Given the description of an element on the screen output the (x, y) to click on. 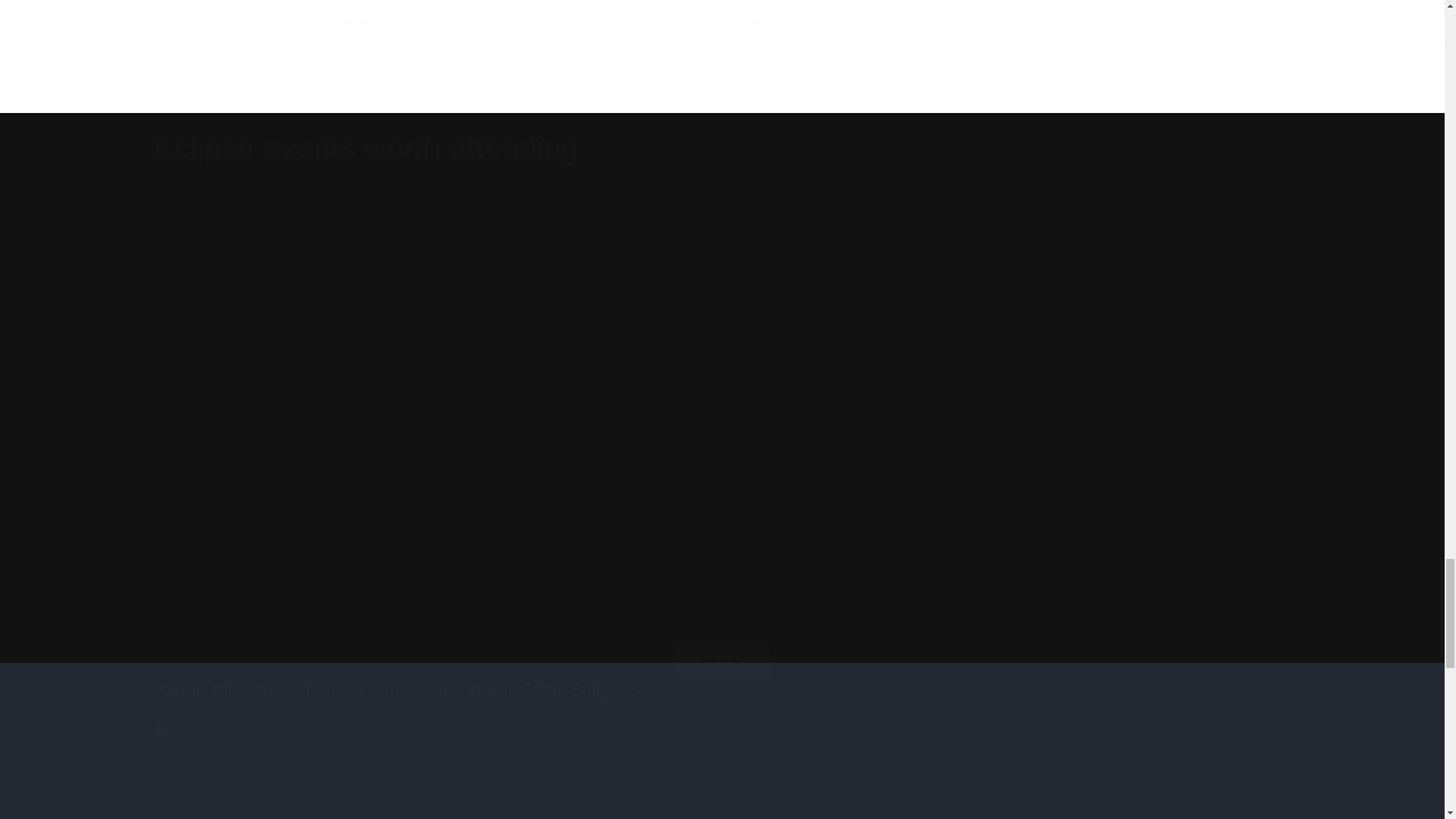
Watch this short video to learn more about Solar Eclipses (721, 689)
Eclipse events worth attending (365, 147)
View all (721, 641)
